Given the description of an element on the screen output the (x, y) to click on. 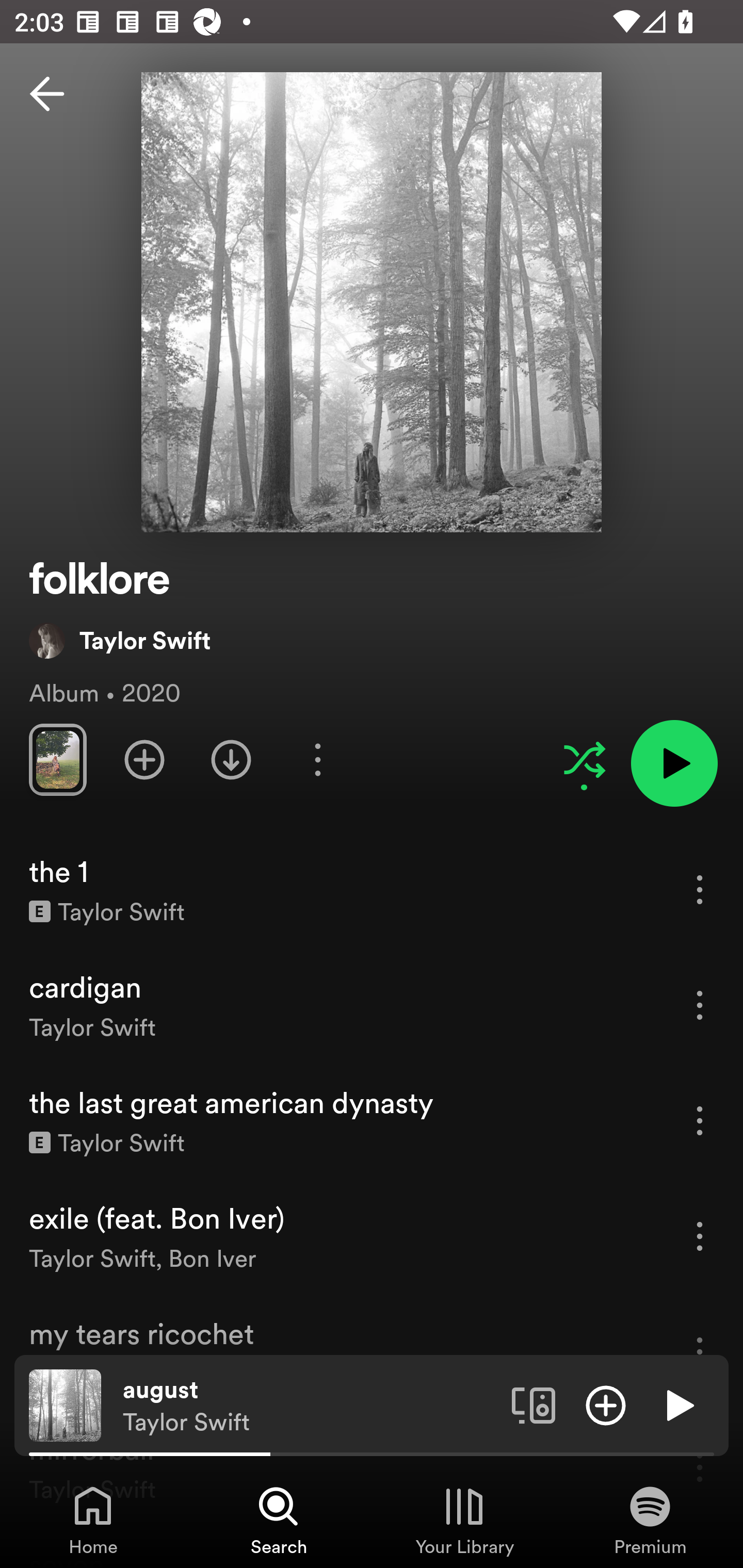
Back (46, 93)
Taylor Swift (119, 640)
Swipe through previews of tracks from this album. (57, 759)
Add playlist to Your Library (144, 759)
Download (230, 759)
More options for playlist folklore (317, 759)
Disable shuffle for this playlist (583, 759)
Play playlist (674, 763)
More options for song the 1 (699, 889)
More options for song cardigan (699, 1004)
More options for song exile (feat. Bon Iver) (699, 1236)
august Taylor Swift (309, 1405)
The cover art of the currently playing track (64, 1404)
Connect to a device. Opens the devices menu (533, 1404)
Add item (605, 1404)
Play (677, 1404)
Home, Tab 1 of 4 Home Home (92, 1519)
Search, Tab 2 of 4 Search Search (278, 1519)
Your Library, Tab 3 of 4 Your Library Your Library (464, 1519)
Premium, Tab 4 of 4 Premium Premium (650, 1519)
